Given the description of an element on the screen output the (x, y) to click on. 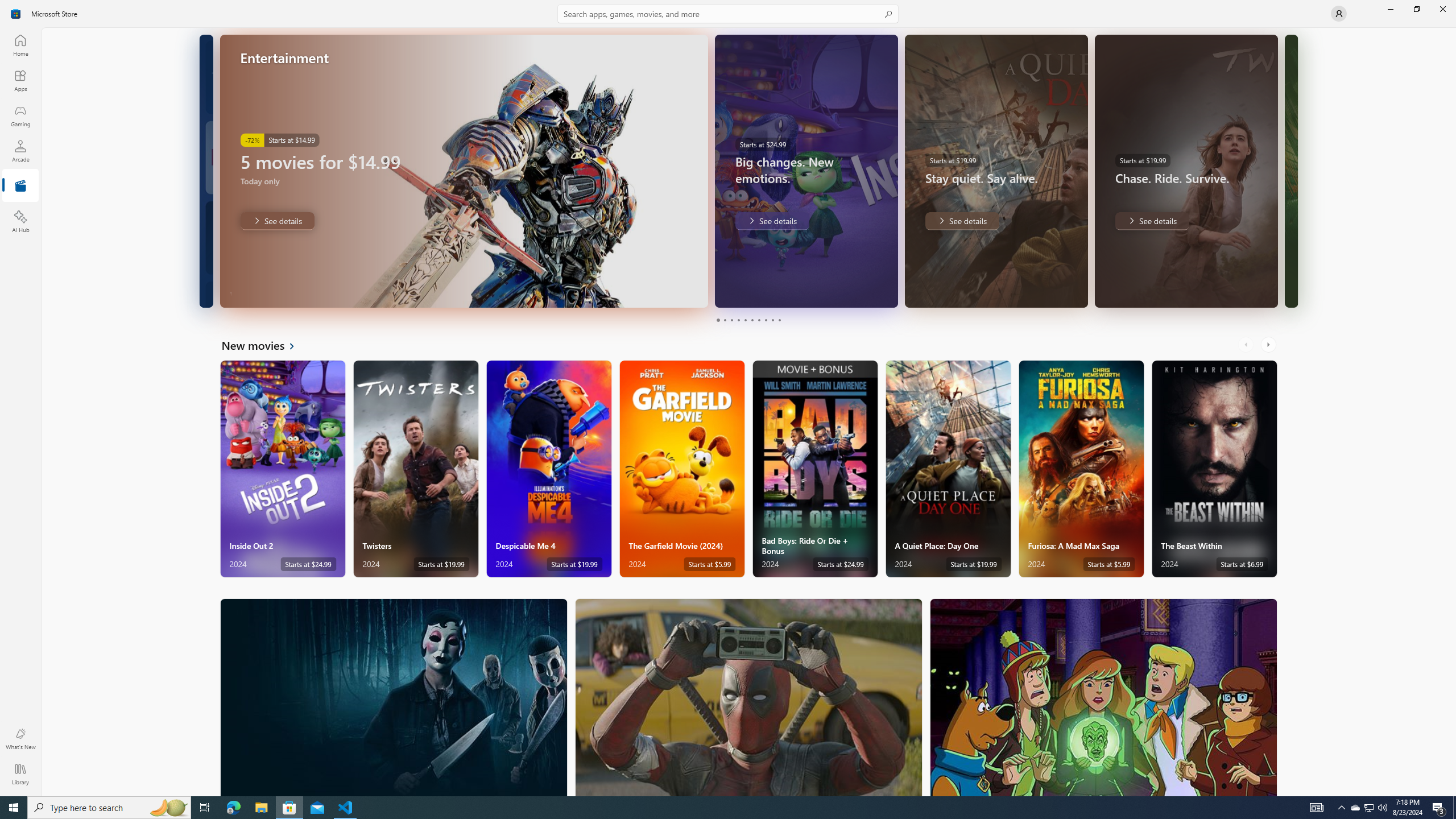
Arcade (20, 150)
User profile (1338, 13)
Page 1 (717, 319)
